Given the description of an element on the screen output the (x, y) to click on. 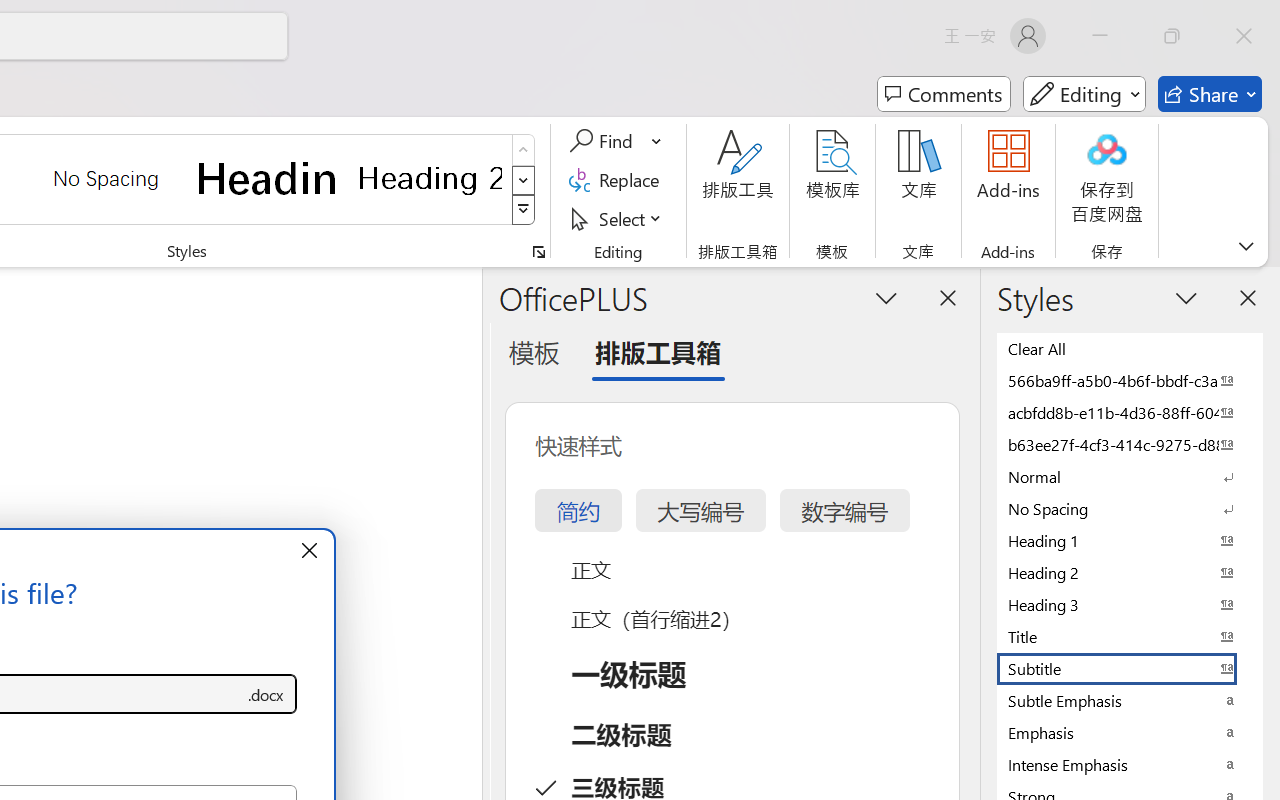
Intense Emphasis (1130, 764)
Clear All (1130, 348)
Title (1130, 636)
Ribbon Display Options (1246, 245)
Class: NetUIImage (523, 210)
Normal (1130, 476)
